Given the description of an element on the screen output the (x, y) to click on. 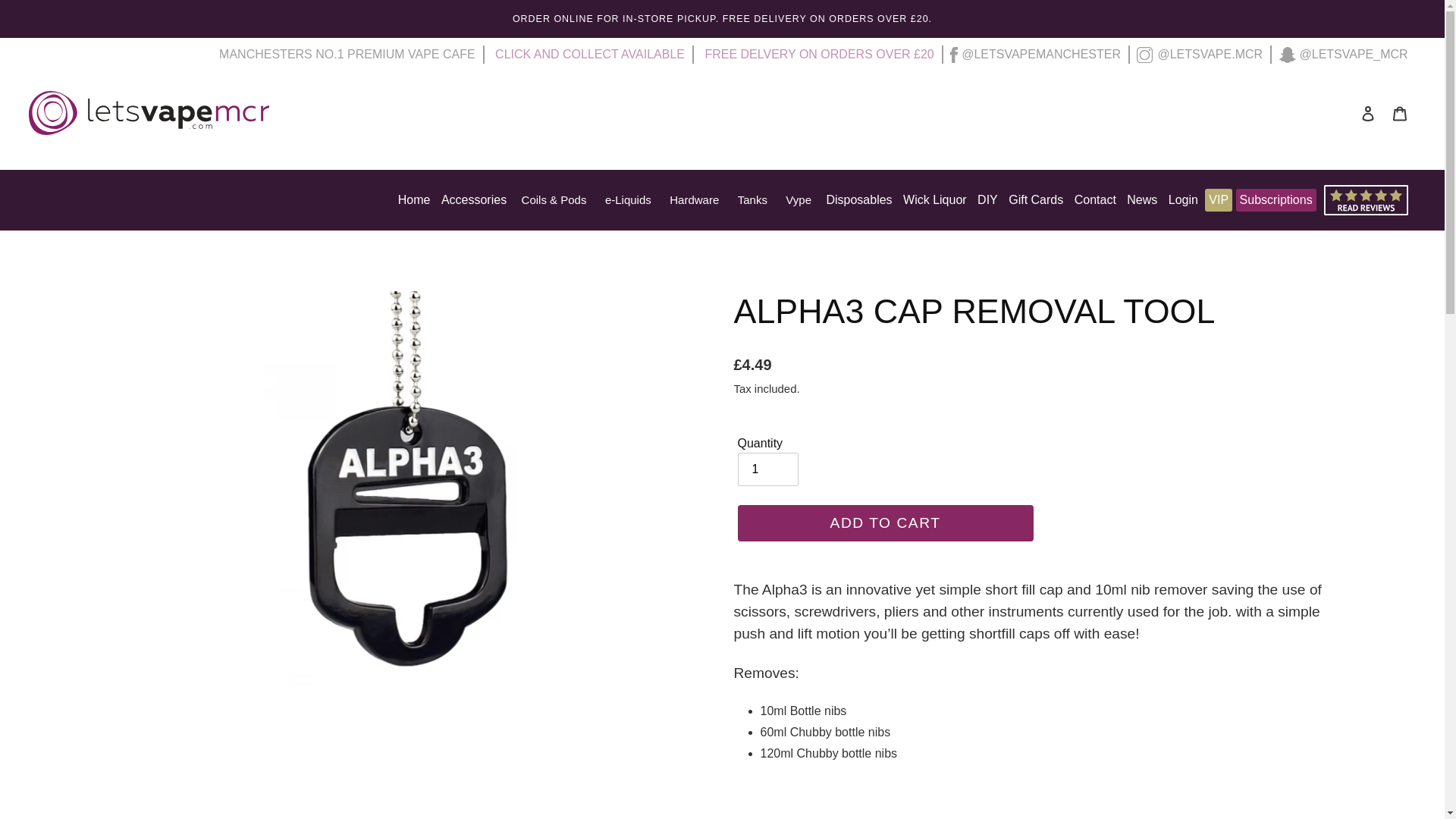
e-Liquids (627, 200)
Log in (1368, 112)
1 (766, 469)
Cart (1399, 112)
Accessories (474, 200)
Home (413, 200)
